Given the description of an element on the screen output the (x, y) to click on. 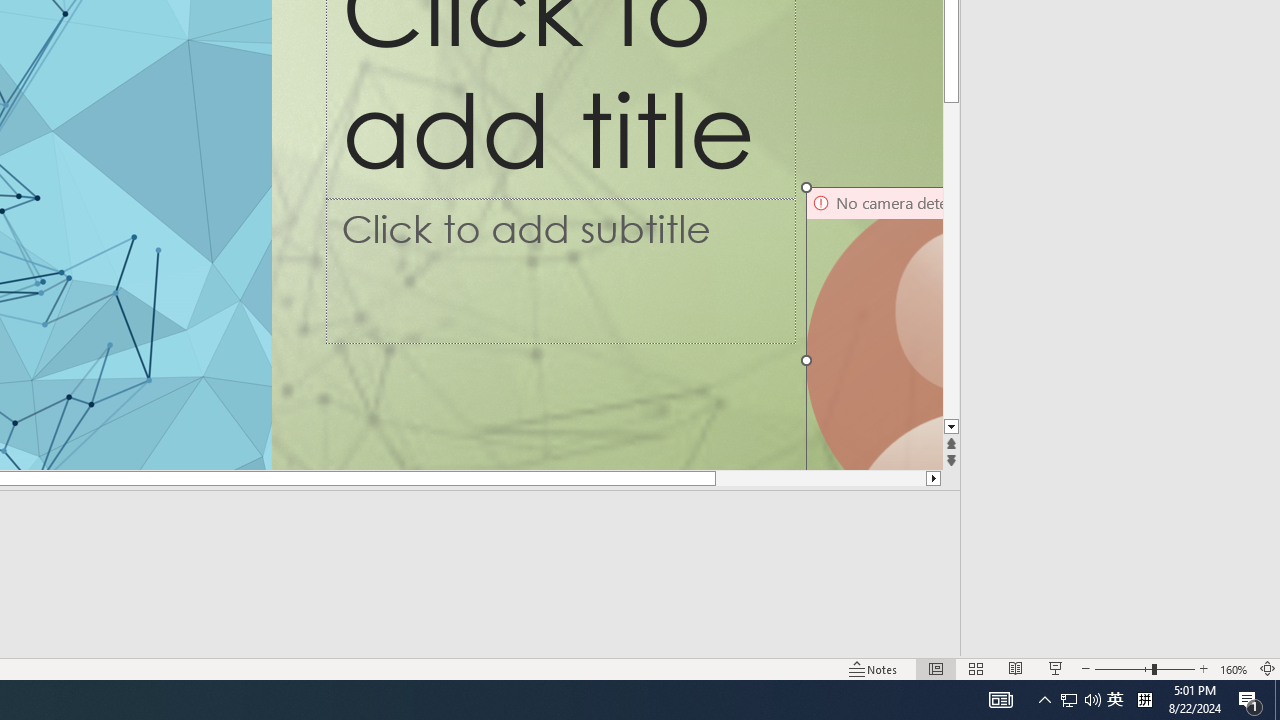
Zoom 160% (1234, 668)
